Given the description of an element on the screen output the (x, y) to click on. 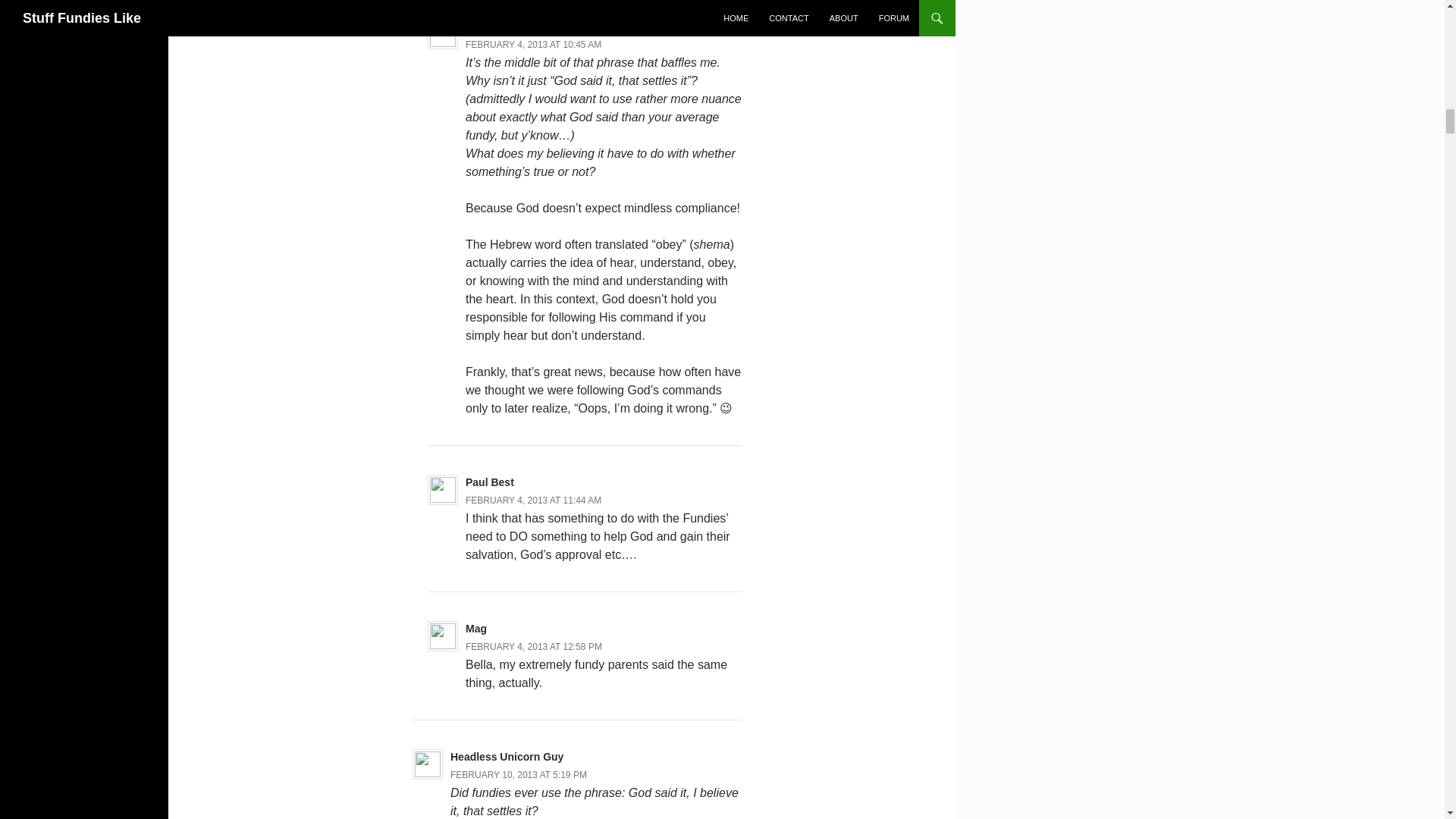
FEBRUARY 10, 2013 AT 5:19 PM (517, 774)
FEBRUARY 4, 2013 AT 12:58 PM (533, 646)
FEBRUARY 4, 2013 AT 11:44 AM (533, 500)
FEBRUARY 4, 2013 AT 10:45 AM (533, 44)
